Given the description of an element on the screen output the (x, y) to click on. 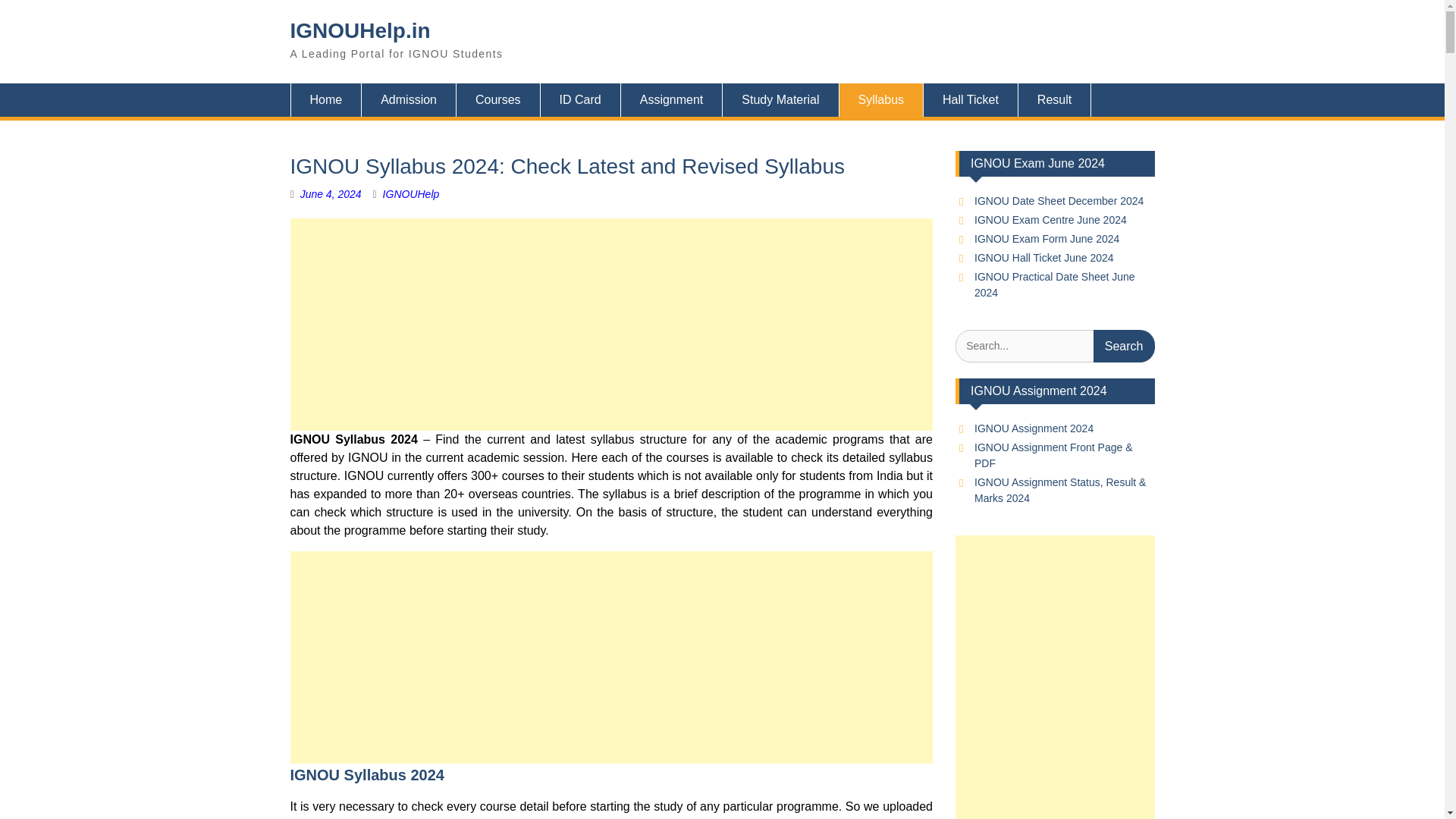
Result (1053, 100)
Syllabus (881, 100)
June 4, 2024 (330, 193)
Admission (409, 100)
Study Material (780, 100)
IGNOUHelp (410, 193)
Search (1123, 346)
Assignment (672, 100)
ID Card (580, 100)
Courses (498, 100)
Search (1123, 346)
IGNOUHelp.in (359, 30)
Hall Ticket (970, 100)
Home (325, 100)
Search for: (1054, 346)
